Given the description of an element on the screen output the (x, y) to click on. 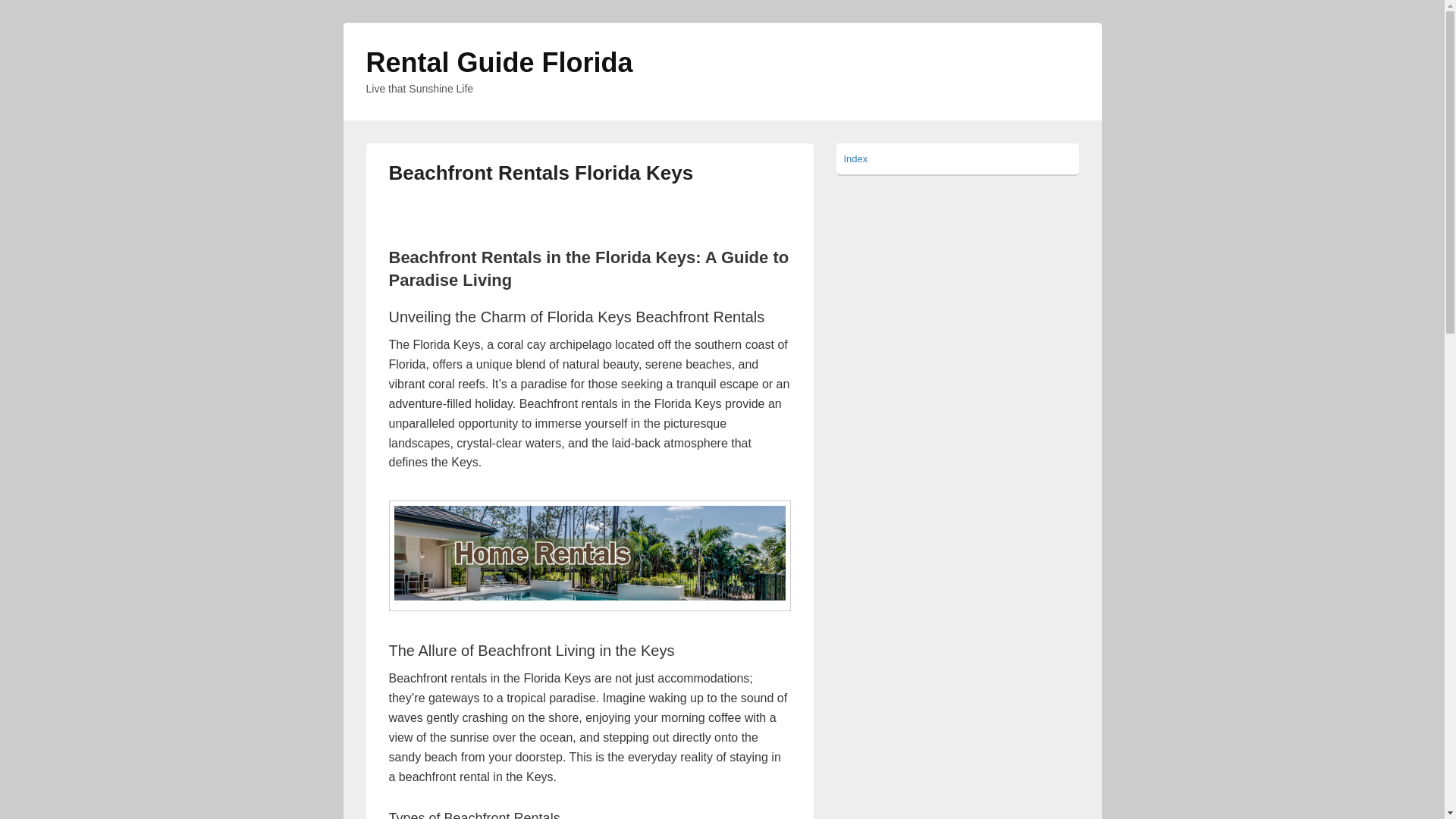
Florida Home Rentals (589, 555)
Rental Guide Florida (498, 61)
Index (855, 158)
